Given the description of an element on the screen output the (x, y) to click on. 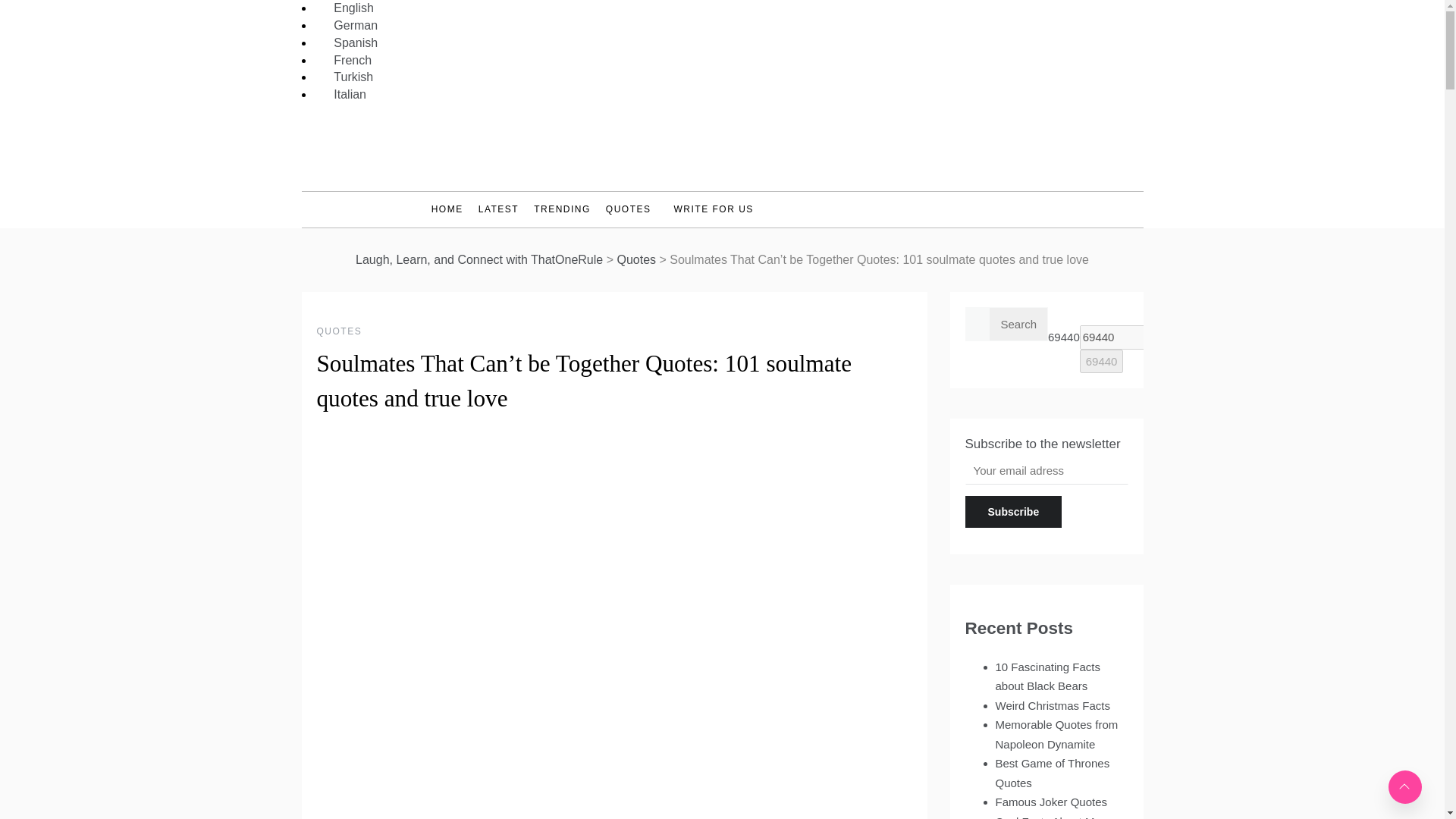
 thatonerule.com. (478, 259)
English (346, 7)
HOME (450, 209)
Spanish (348, 42)
logo2 (721, 147)
WRITE FOR US (706, 209)
LATEST (497, 209)
Go to the Quotes Category archives. (635, 259)
German (348, 24)
QUOTES (339, 330)
